Given the description of an element on the screen output the (x, y) to click on. 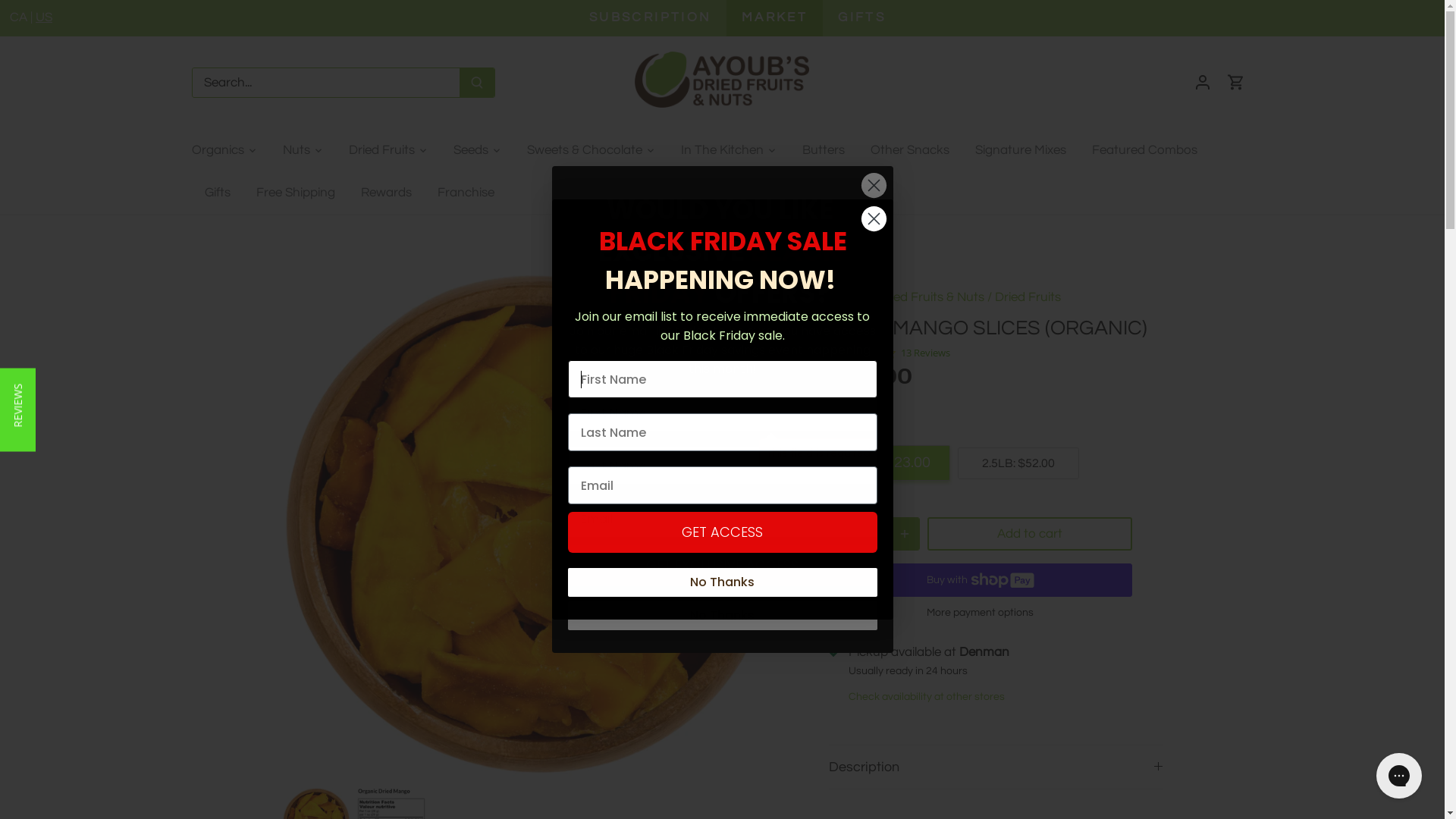
Rewards Element type: text (385, 192)
Franchise Element type: text (465, 192)
More payment options Element type: text (979, 612)
Gorgias live chat messenger Element type: hover (1398, 775)
2.5LB: $52.00 Element type: text (1017, 463)
13 Reviews Element type: text (922, 353)
Dried Fruits Element type: text (1027, 297)
Featured Combos Element type: text (1143, 149)
Seeds Element type: text (469, 149)
1 LB: $23.00 Element type: text (888, 462)
Submit Element type: text (37, 15)
Free Shipping Element type: text (294, 192)
Check availability at other stores Element type: text (925, 695)
Sweets & Chocolate Element type: text (584, 149)
Gifts Element type: text (216, 192)
Ayoub's Dried Fruits & Nuts Element type: text (905, 297)
Nuts Element type: text (296, 149)
MARKET Element type: text (774, 17)
Signature Mixes Element type: text (1019, 149)
No Thanks Element type: text (721, 615)
US Element type: text (43, 17)
GET ACCESS Element type: text (721, 531)
Dried Fruits Element type: text (380, 149)
SUBSCRIPTION Element type: text (650, 17)
Organics Element type: text (223, 149)
Add to cart Element type: text (1028, 533)
GET EXCLUSIVE ACCESS Element type: text (721, 565)
Other Snacks Element type: text (908, 149)
In The Kitchen Element type: text (721, 149)
No Thanks Element type: text (721, 581)
Go to cart Element type: hover (1235, 82)
GIFTS Element type: text (861, 17)
Butters Element type: text (822, 149)
